Given the description of an element on the screen output the (x, y) to click on. 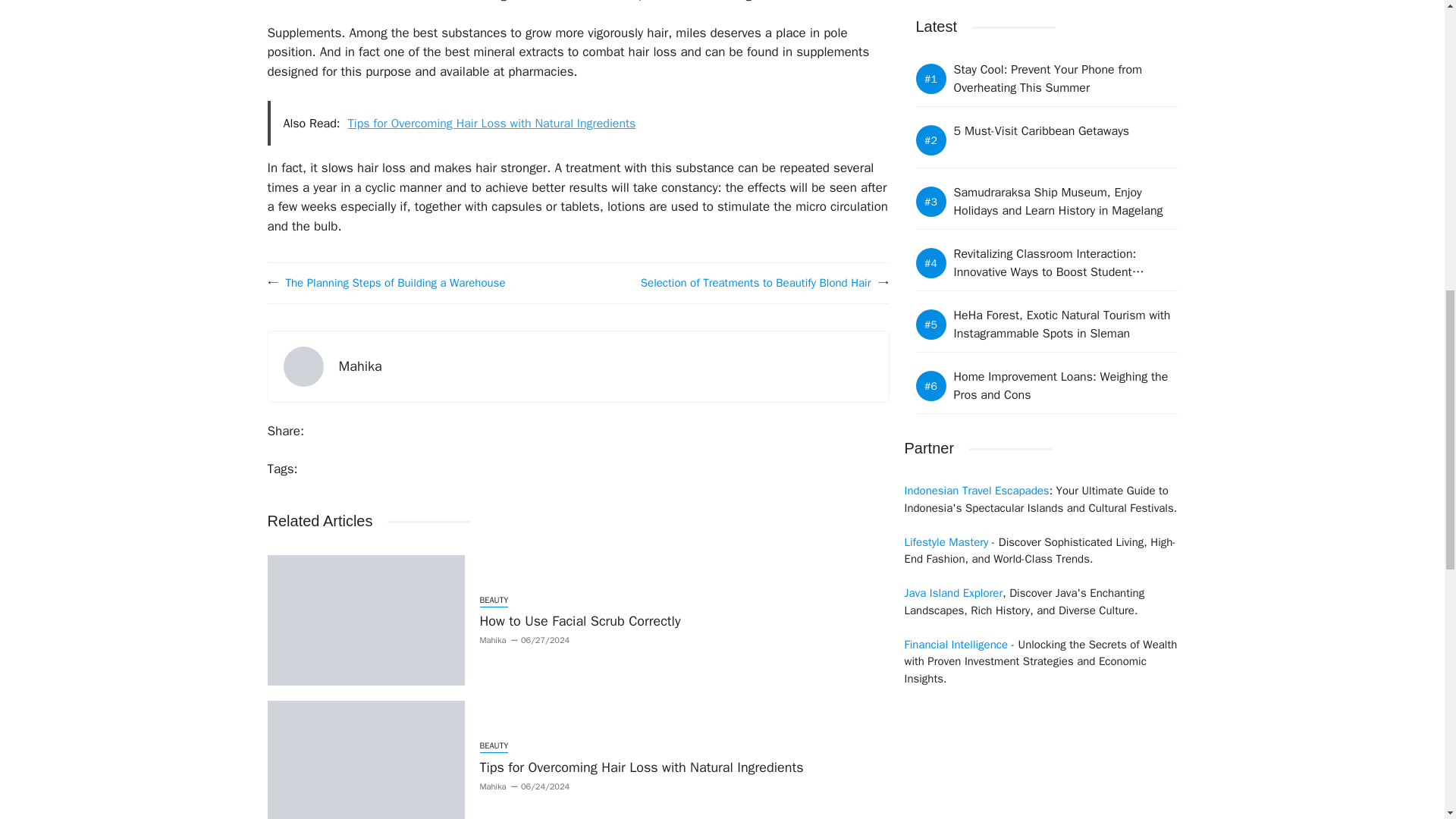
How to Use Facial Scrub Correctly (579, 620)
Selection of Treatments to Beautify Blond Hair (755, 282)
Mahika (360, 366)
Mahika (492, 640)
The Planning Steps of Building a Warehouse (395, 282)
BEAUTY (493, 600)
